Given the description of an element on the screen output the (x, y) to click on. 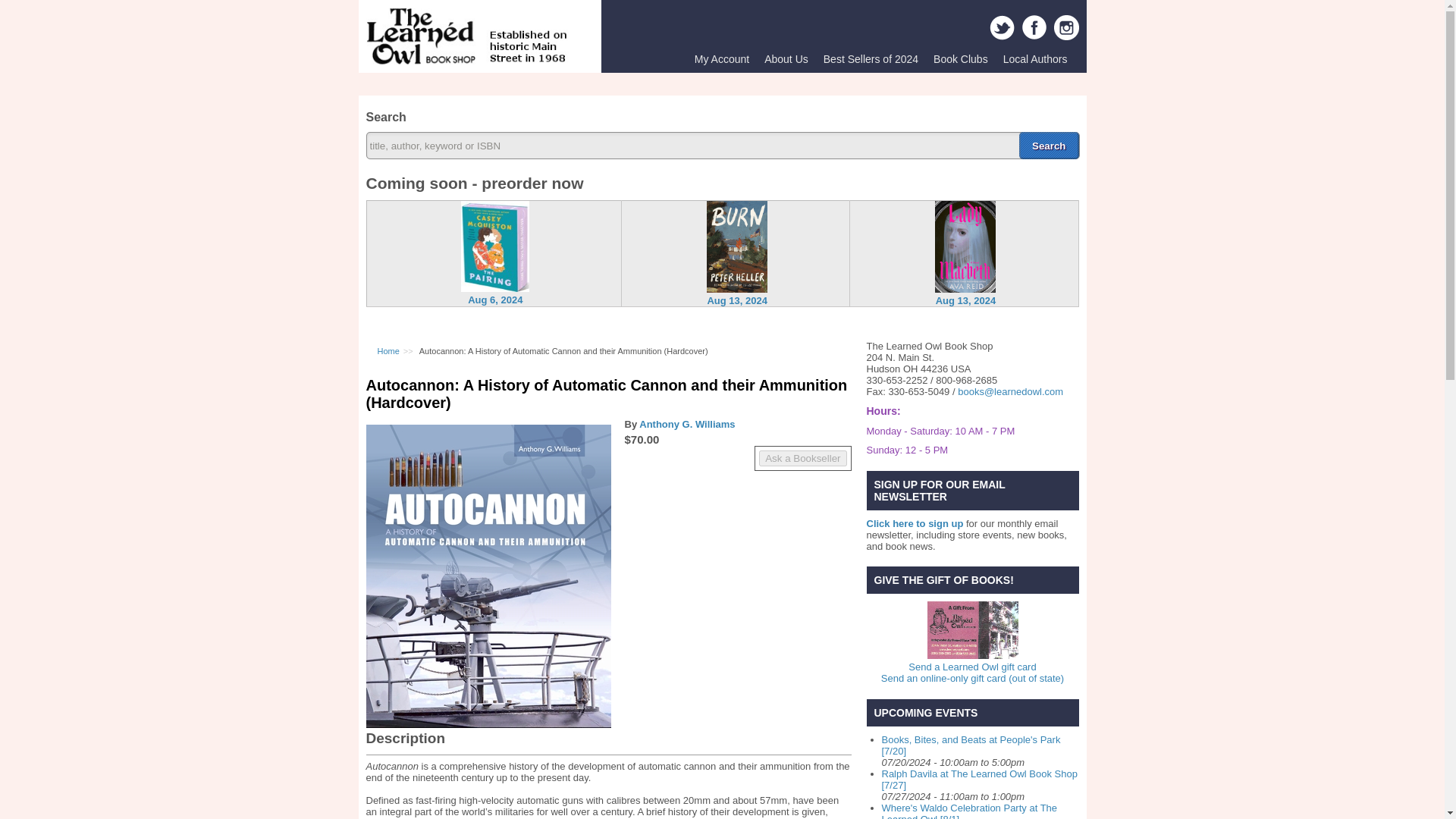
About Us (786, 58)
Search (1048, 144)
Book Clubs (960, 58)
Aug 13, 2024 (736, 299)
Search (1048, 144)
Home (467, 60)
Best Sellers of 2024 (870, 58)
Aug 13, 2024 (965, 299)
Aug 6, 2024 (494, 299)
Local Authors (1035, 58)
My Account (722, 58)
Ask a Bookseller (801, 458)
Enter the terms you wish to search for. (721, 144)
Ask a Bookseller (801, 458)
